Given the description of an element on the screen output the (x, y) to click on. 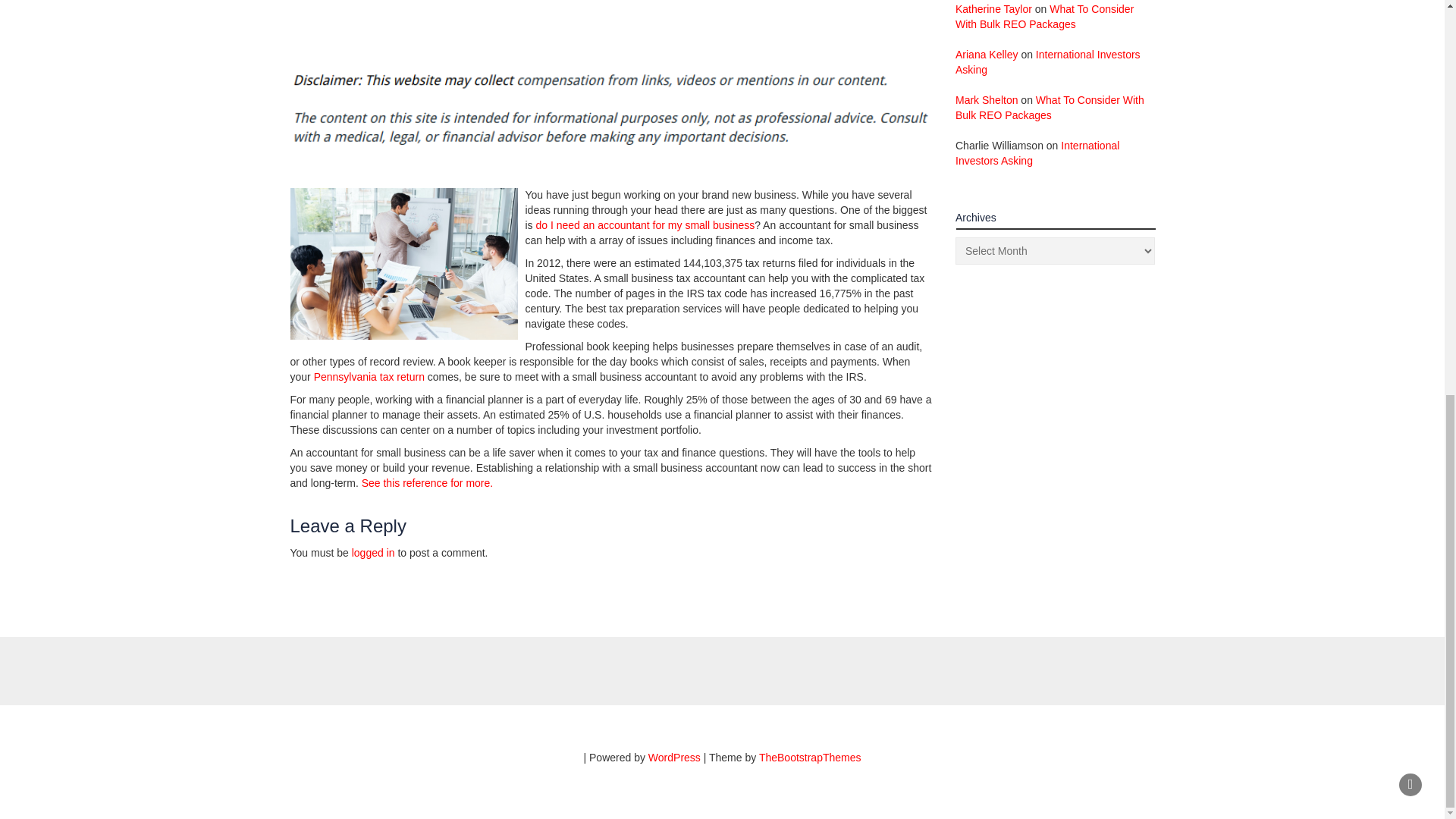
Get more about Financial services new jersey (427, 482)
International Investors Asking (1037, 153)
What To Consider With Bulk REO Packages (1049, 107)
Mark Shelton (986, 100)
WordPress (673, 757)
TheBootstrapThemes (809, 757)
See this reference for more. (427, 482)
Pennsylvania tax return (369, 377)
logged in (373, 552)
International Investors Asking (1047, 62)
